Given the description of an element on the screen output the (x, y) to click on. 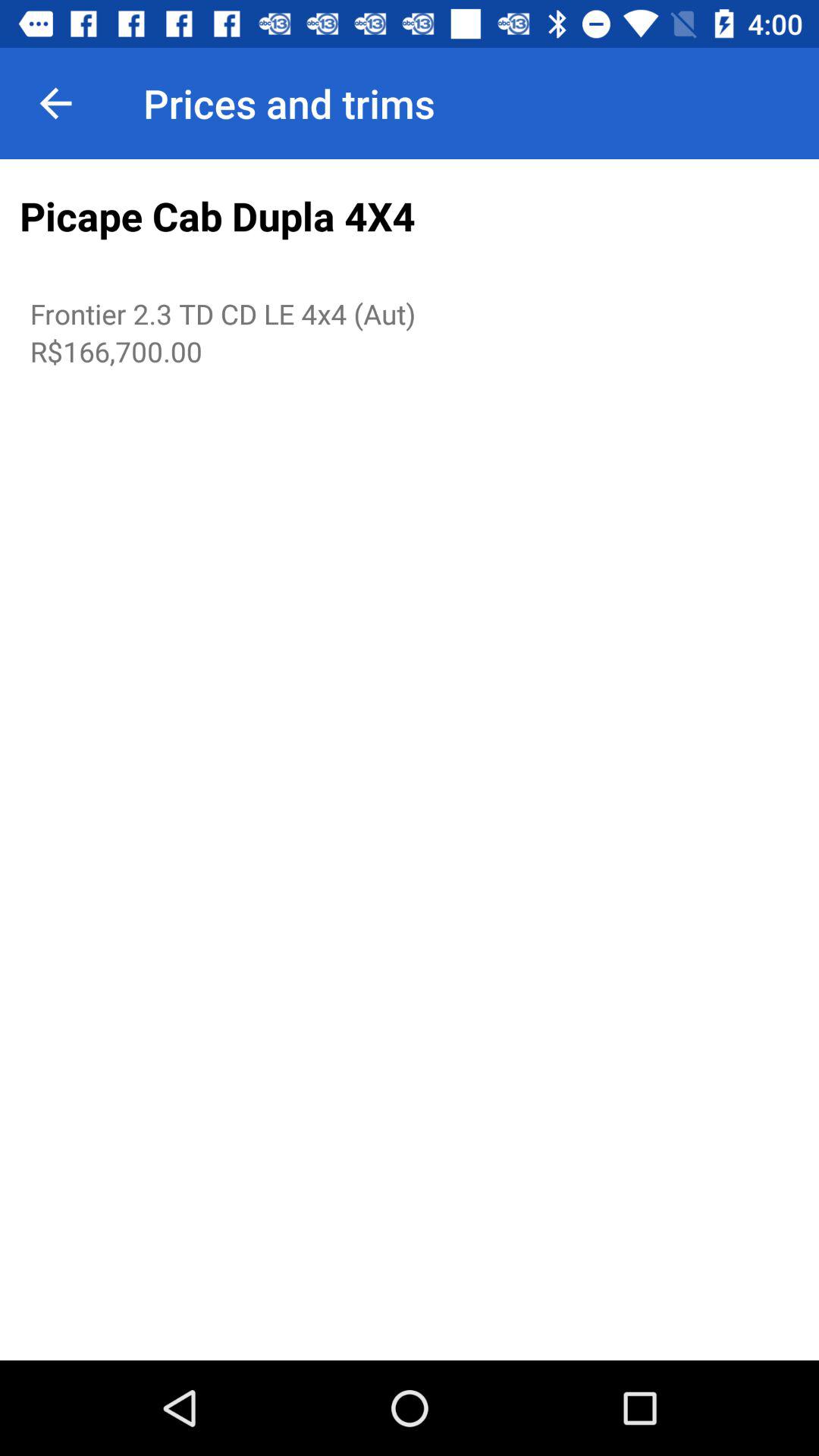
choose item above picape cab dupla item (55, 103)
